Given the description of an element on the screen output the (x, y) to click on. 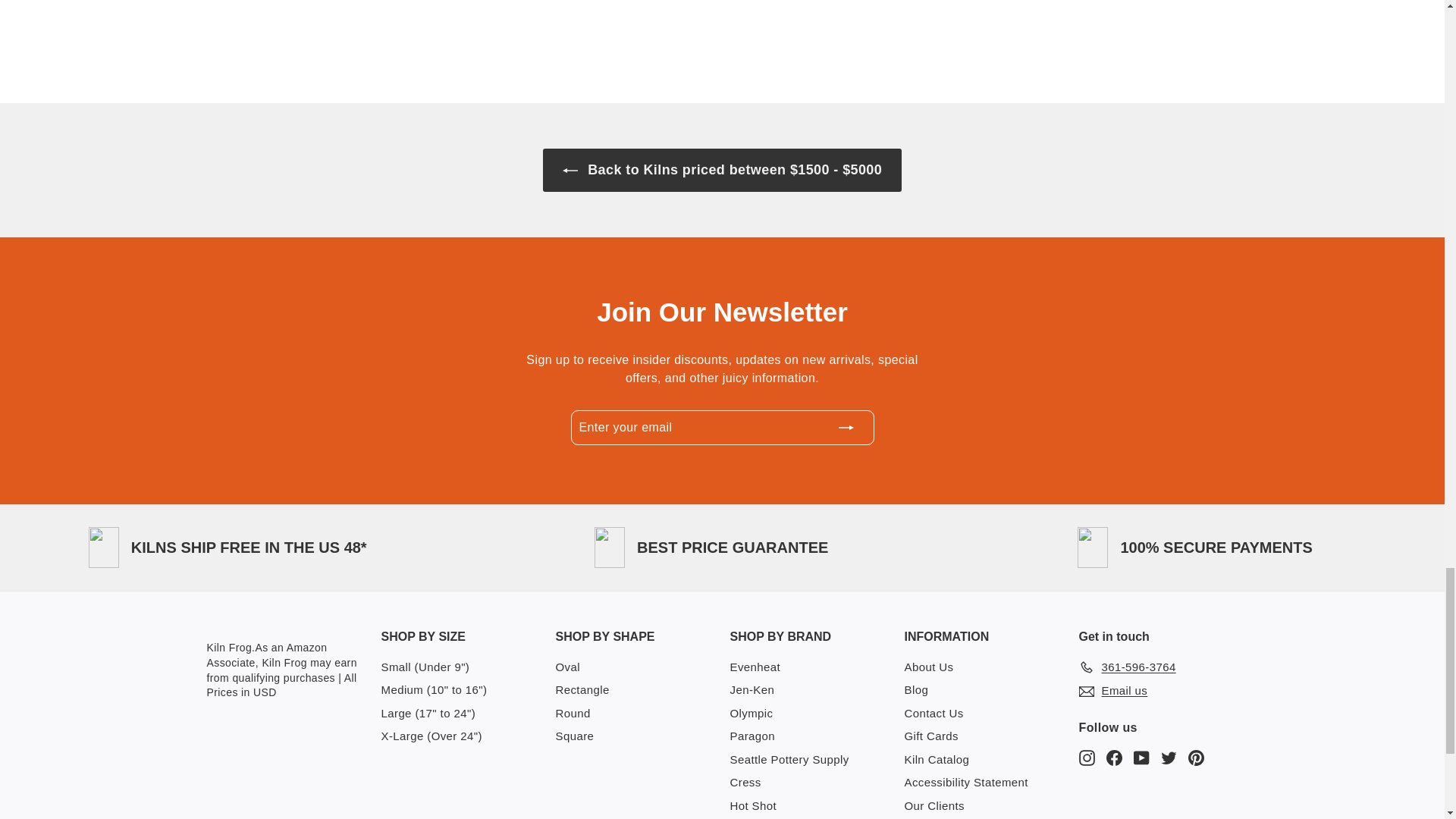
Kiln Frog on Twitter (1168, 756)
Kiln Frog on Instagram (1086, 756)
Kiln Frog on YouTube (1140, 756)
Kiln Frog on Pinterest (1196, 756)
Kiln Frog on Facebook (1113, 756)
